Given the description of an element on the screen output the (x, y) to click on. 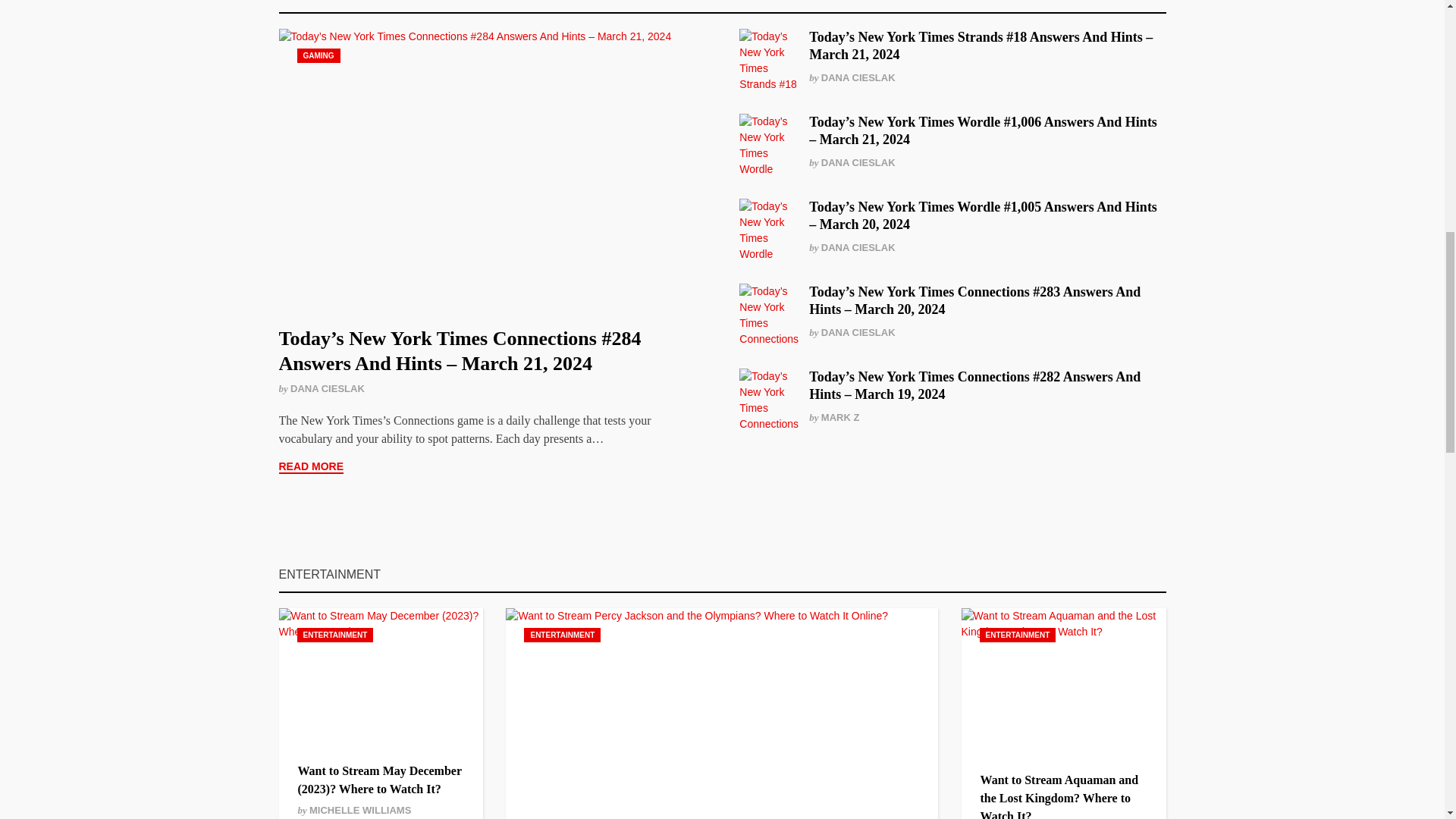
GAMING (318, 55)
READ MORE (311, 467)
DANA CIESLAK (327, 388)
